Given the description of an element on the screen output the (x, y) to click on. 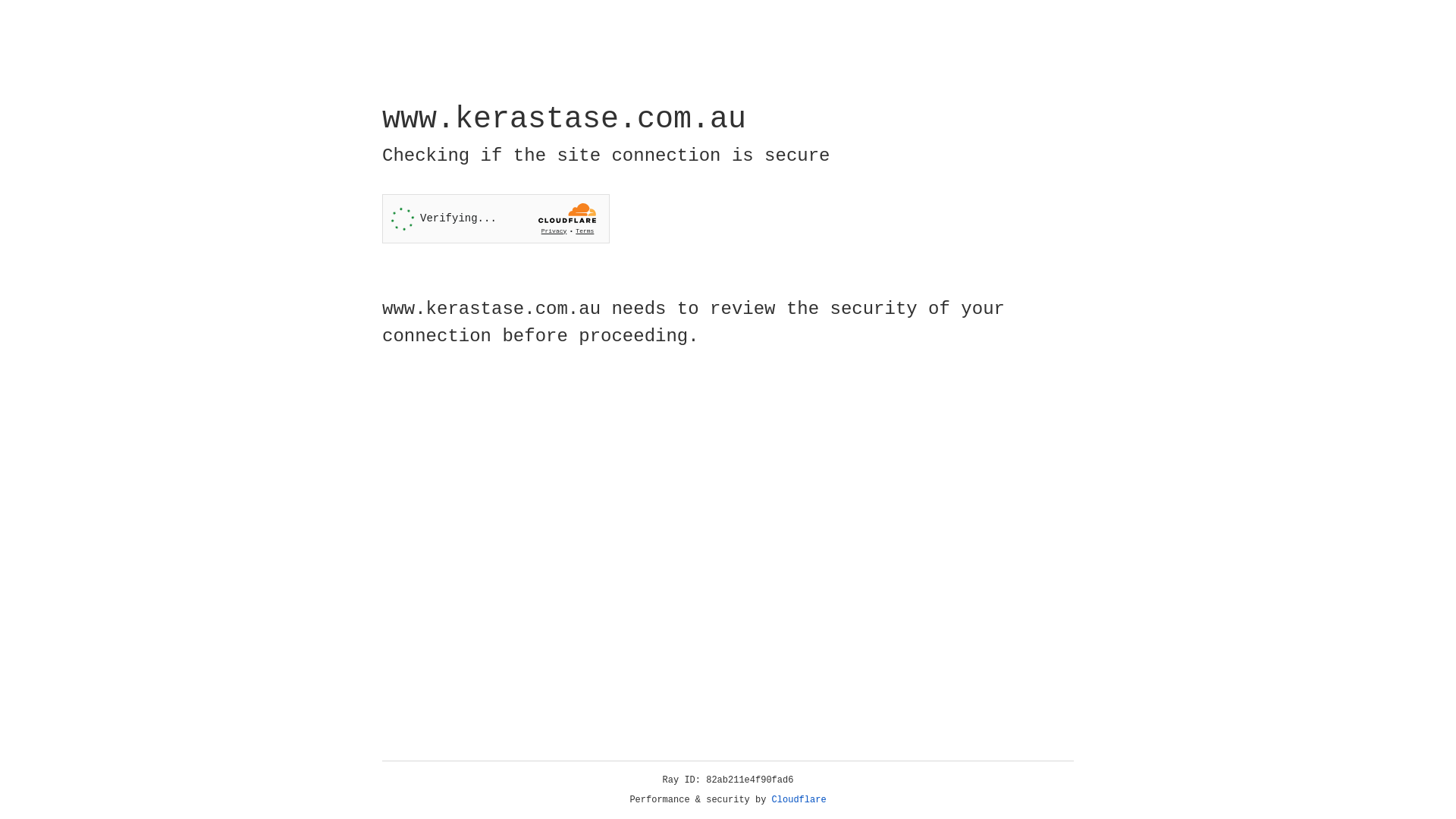
Cloudflare Element type: text (798, 799)
Widget containing a Cloudflare security challenge Element type: hover (495, 218)
